Given the description of an element on the screen output the (x, y) to click on. 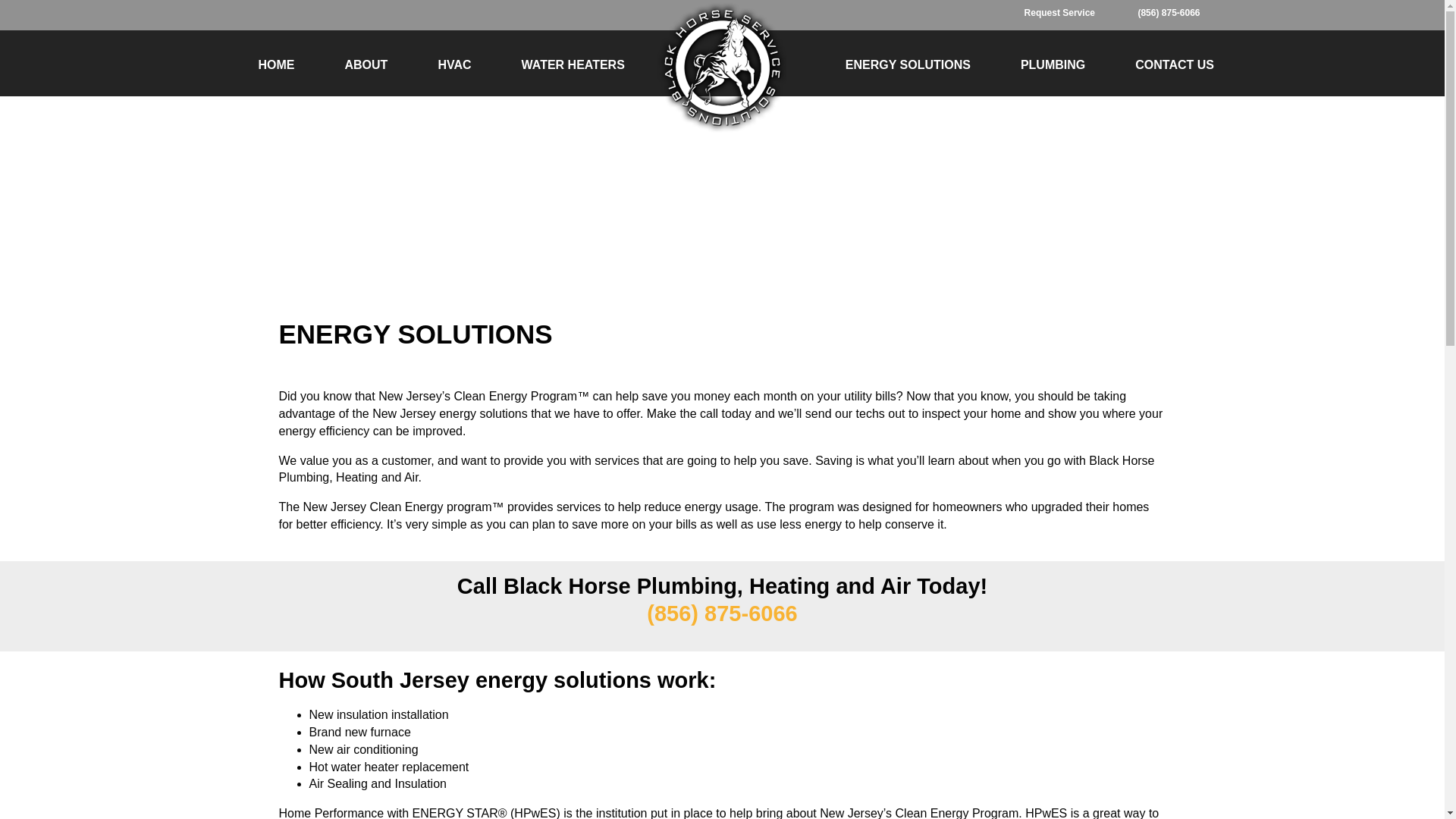
HVAC (454, 65)
CONTACT US (1174, 65)
Request Service (1071, 12)
PLUMBING (1052, 65)
WATER HEATERS (572, 65)
ABOUT (366, 65)
HOME (276, 65)
ENERGY SOLUTIONS (908, 65)
